Given the description of an element on the screen output the (x, y) to click on. 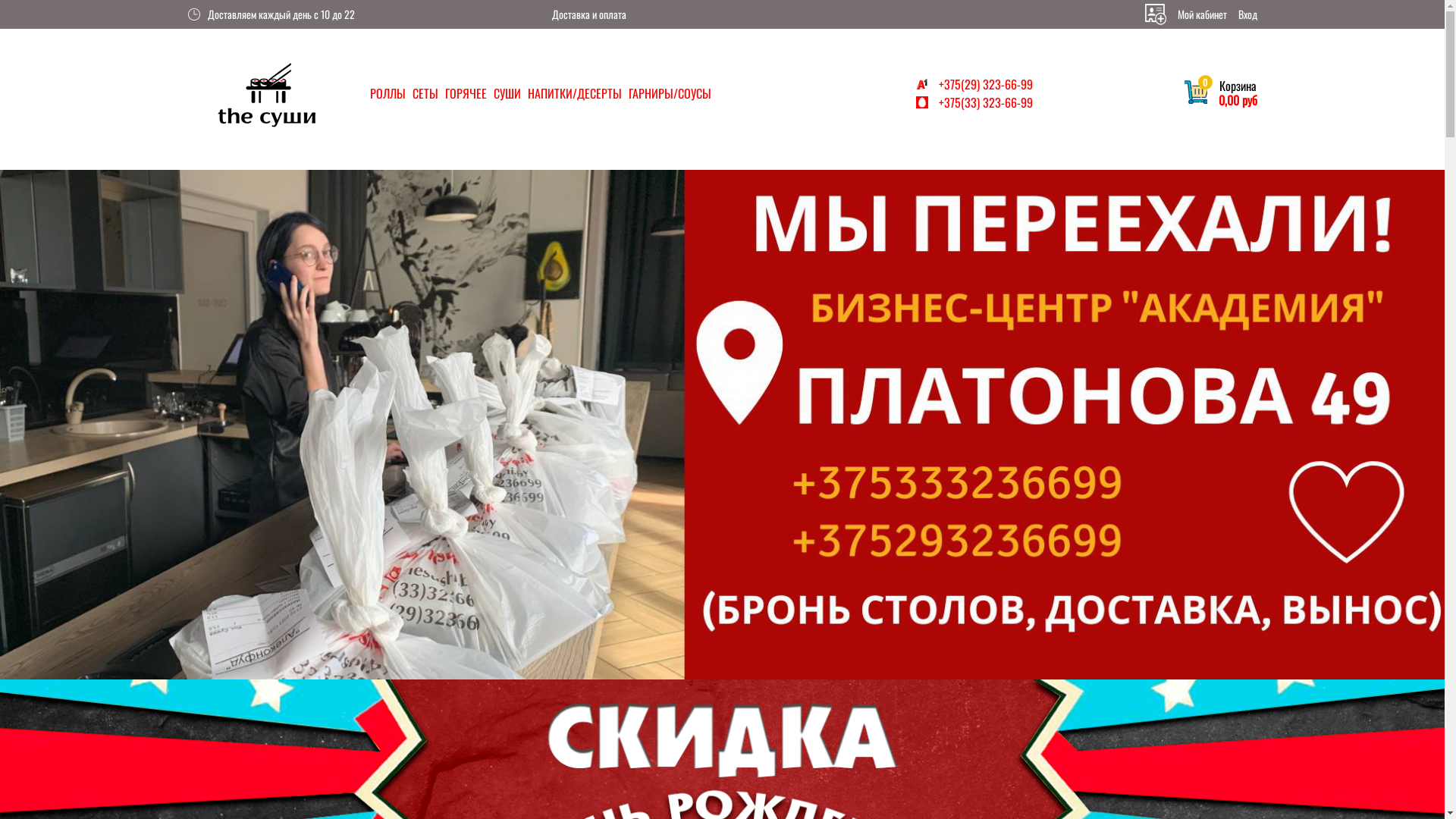
+375(33) 323-66-99 Element type: text (974, 102)
+375(29) 323-66-99 Element type: text (974, 84)
